Given the description of an element on the screen output the (x, y) to click on. 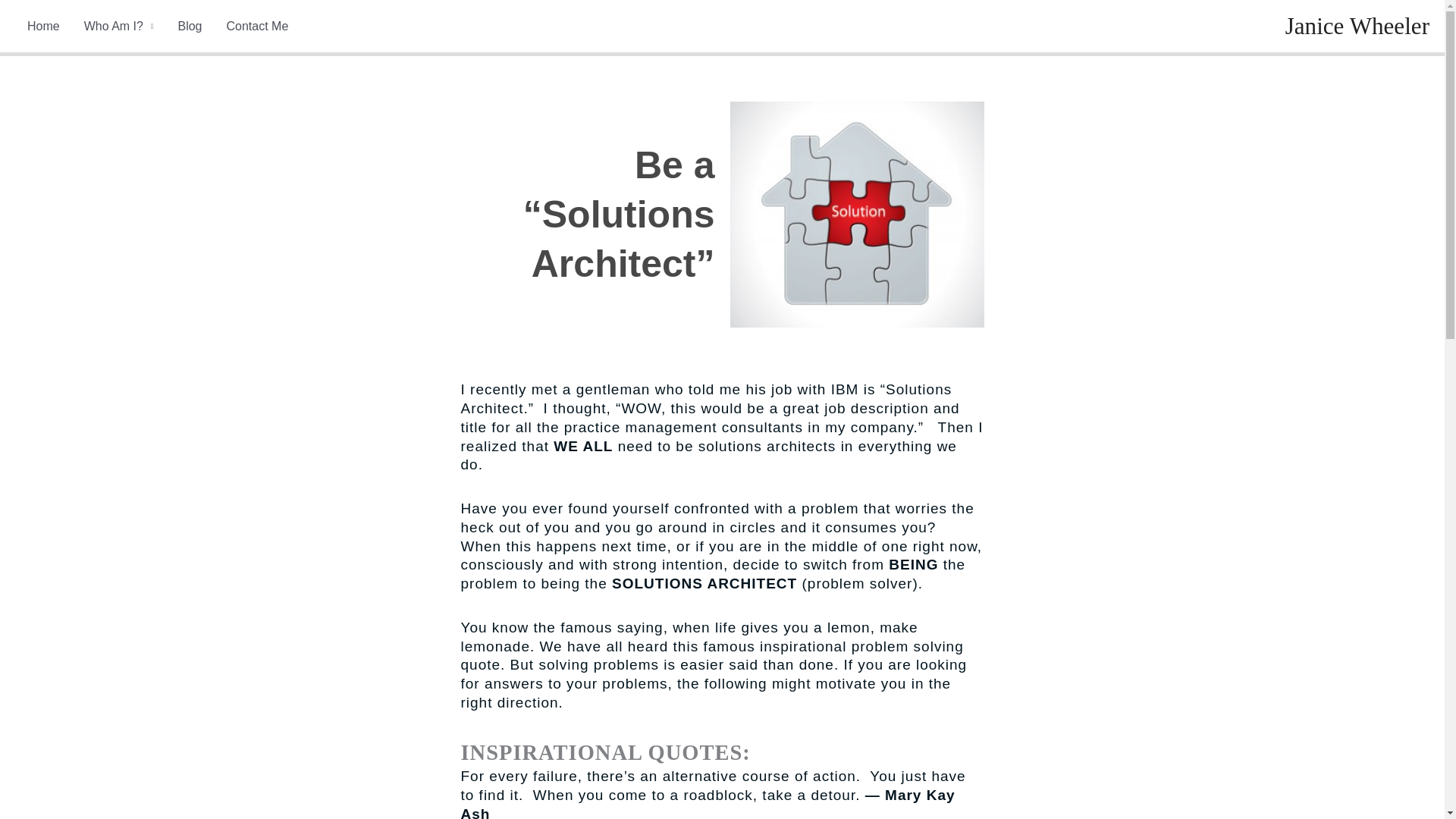
Blog (189, 26)
Janice Wheeler (1357, 26)
Home (42, 26)
Who Am I? (118, 26)
Contact Me (256, 26)
